Given the description of an element on the screen output the (x, y) to click on. 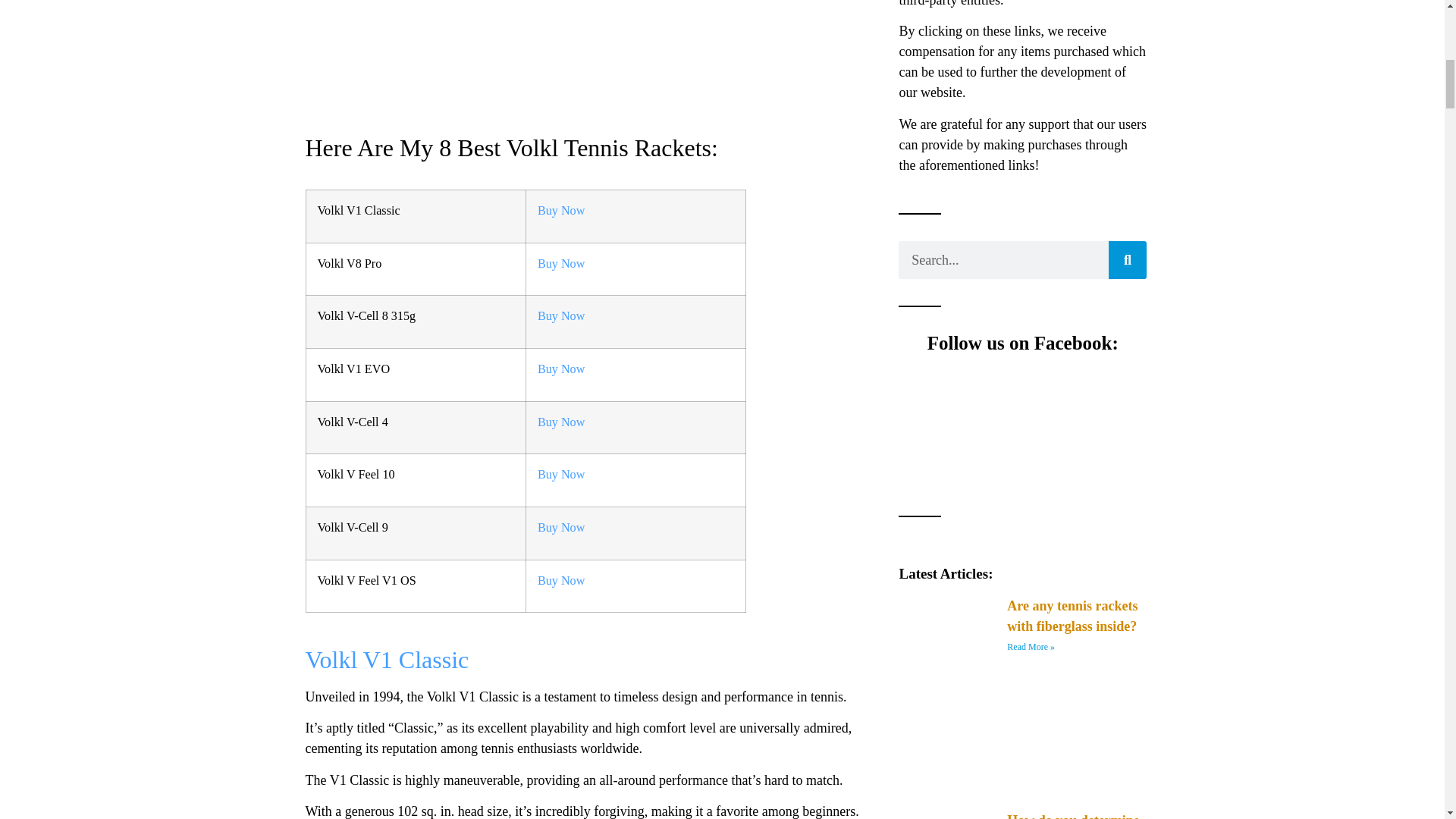
Buy Now (561, 368)
Buy Now (561, 581)
Volkl V1 Classic (386, 659)
Buy Now (561, 422)
Buy Now (561, 527)
Buy Now (561, 264)
Buy Now (561, 315)
Buy Now (561, 210)
Buy Now (561, 474)
